Given the description of an element on the screen output the (x, y) to click on. 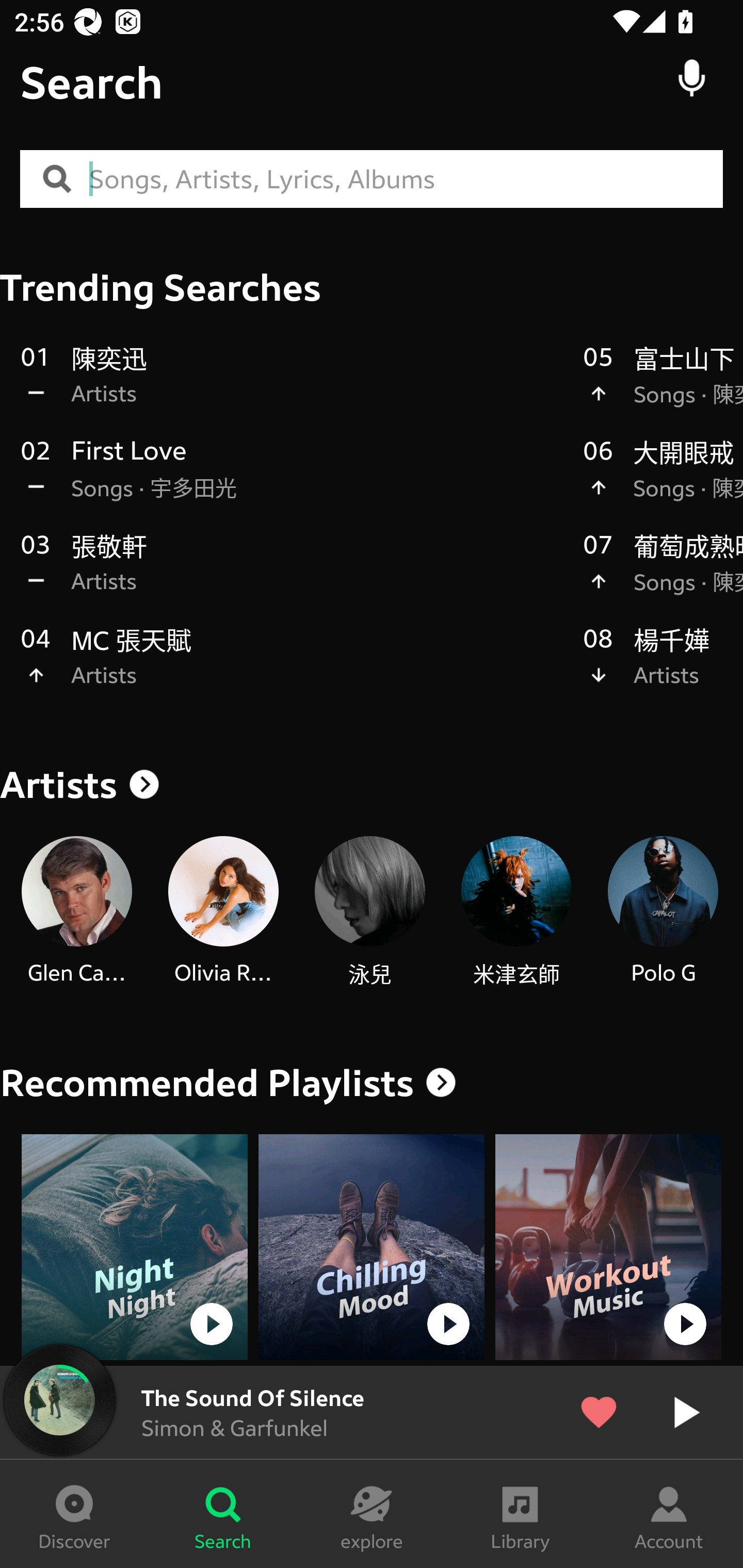
Songs, Artists, Lyrics, Albums (405, 179)
01 陳奕迅 Artists (291, 385)
05 富士山下 Songs · 陳奕迅 (663, 385)
02 First Love Songs · 宇多田光 (291, 479)
06 大開眼戒 Songs · 陳奕迅 (663, 479)
03 張敬軒 Artists (291, 573)
07 葡萄成熟時 Songs · 陳奕迅 (663, 573)
04 MC 張天賦 Artists (291, 667)
08 楊千嬅 Artists (663, 667)
Artists (371, 784)
Glen Campbell (76, 911)
Olivia Rodrigo (222, 911)
泳兒 (369, 912)
米津玄師 (516, 912)
Polo G (662, 911)
Recommended Playlists (206, 1082)
The Sound Of Silence Simon & Garfunkel (371, 1412)
Discover (74, 1513)
explore (371, 1513)
Library (519, 1513)
Account (668, 1513)
